Given the description of an element on the screen output the (x, y) to click on. 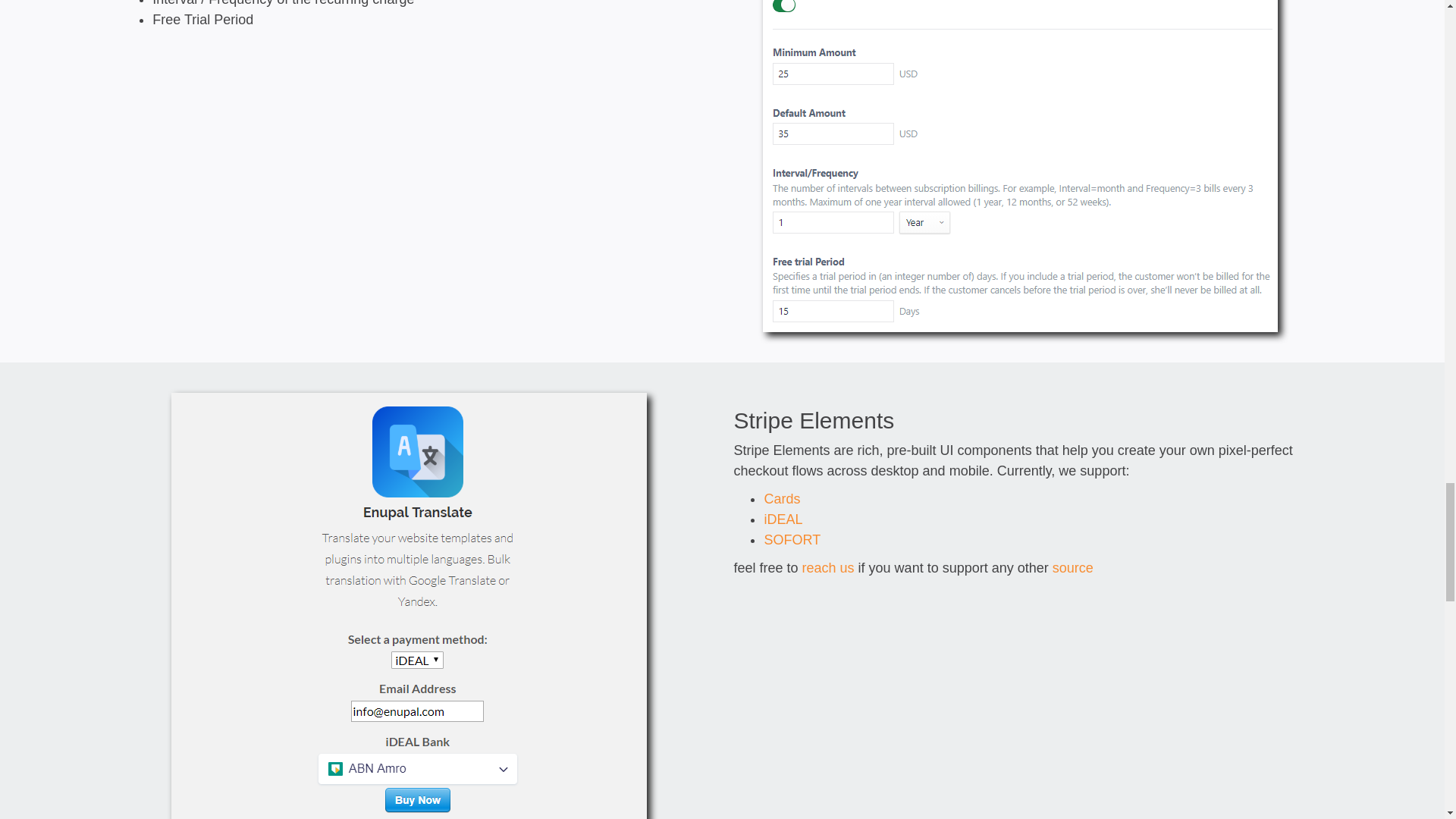
reach us (828, 567)
SOFORT (791, 539)
source (1072, 567)
Cards (780, 498)
iDEAL (782, 519)
